Given the description of an element on the screen output the (x, y) to click on. 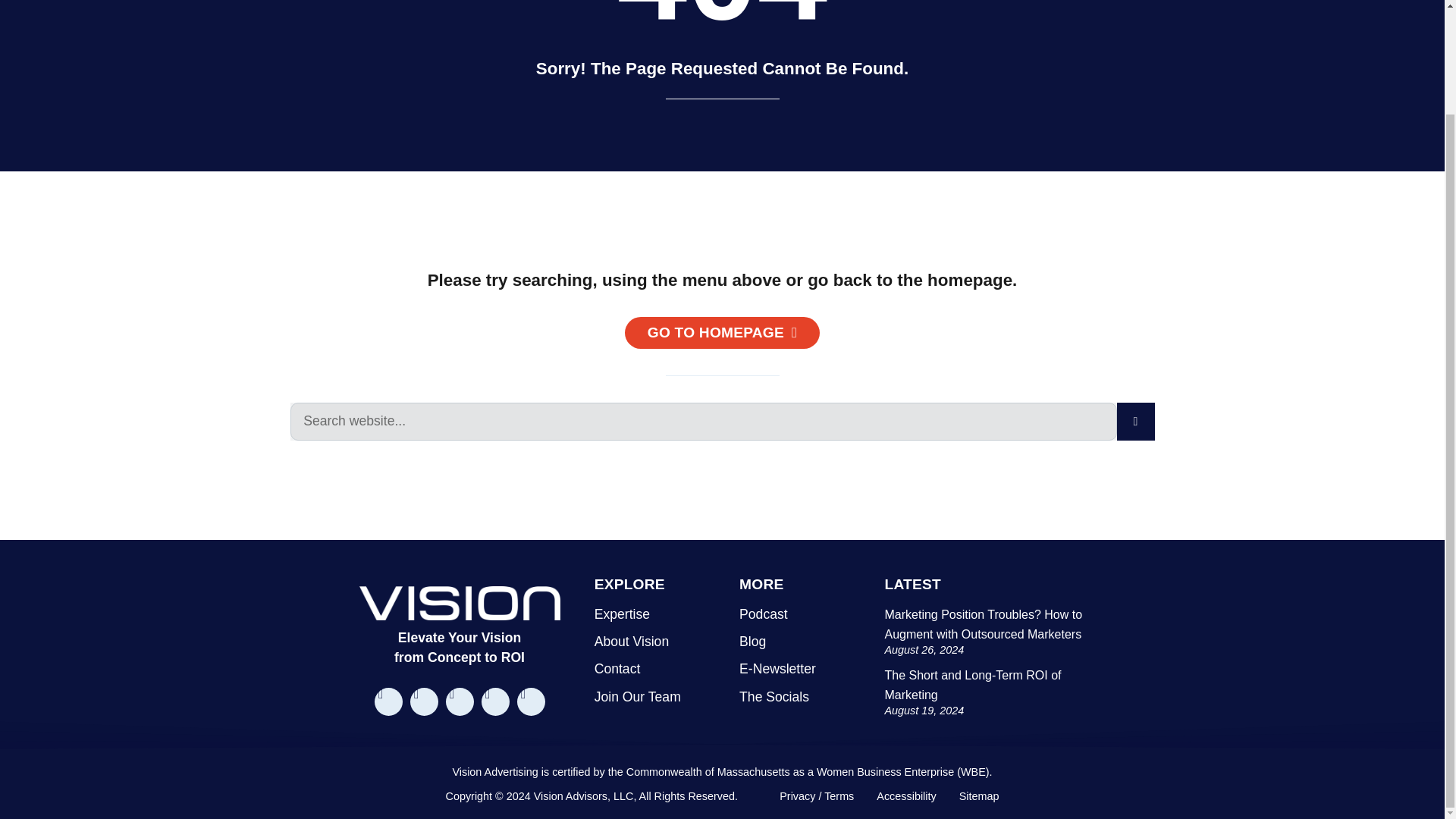
like us on facebook - link opens a new window (388, 701)
Accessibility Statement (905, 796)
view our youtube channel - link opens a new window (494, 701)
follow us on linked in - link opens a new window (459, 701)
follow us on instagram - link opens a new window (423, 701)
Website Terms of Use and Privacy Policy (816, 796)
listen to our podcast - link opens a new window (530, 701)
